Given the description of an element on the screen output the (x, y) to click on. 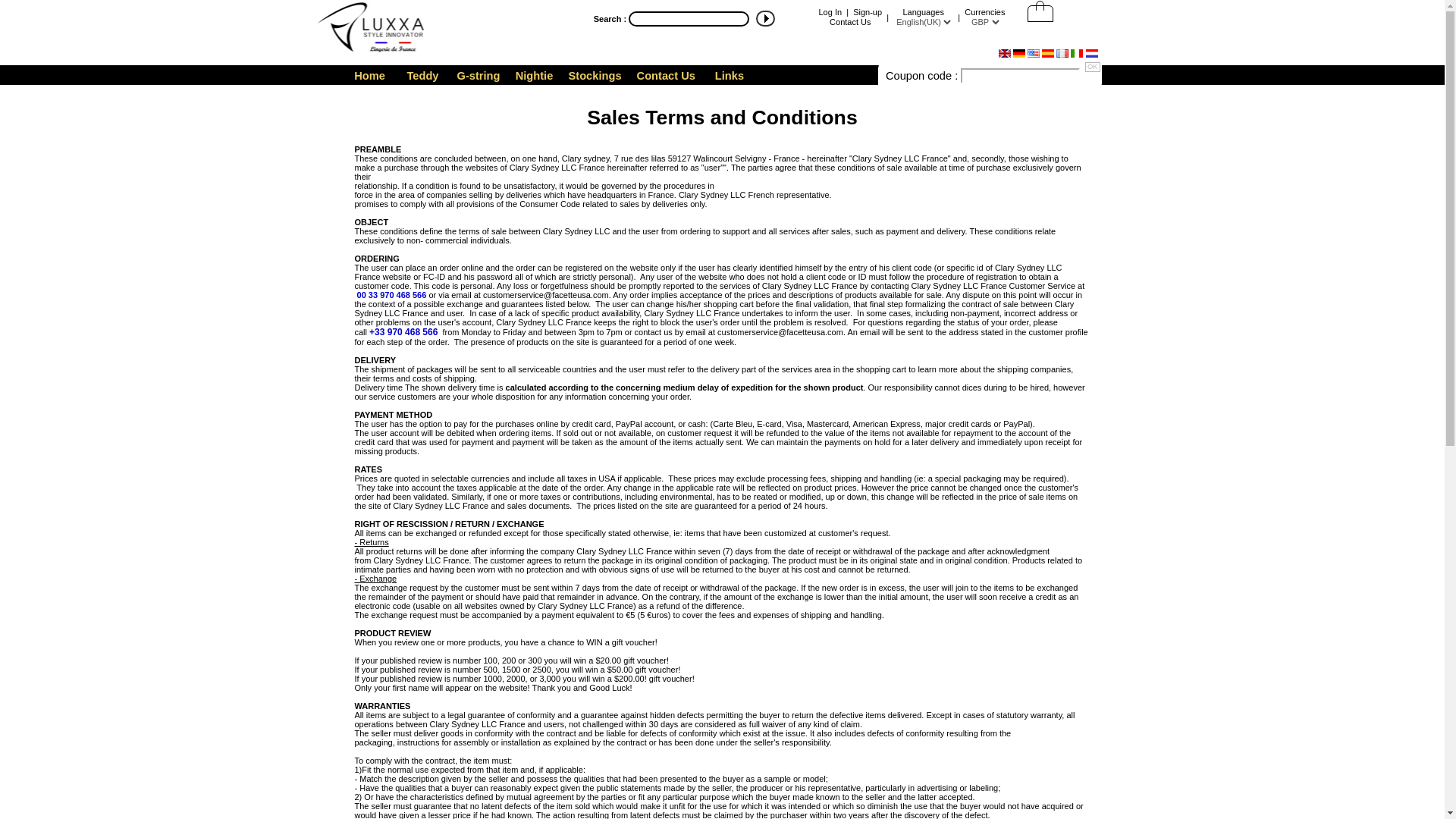
G-string (477, 75)
Nederlands (1091, 53)
Links (729, 75)
Home (370, 75)
Home (370, 75)
Teddy (422, 75)
Nightie (533, 75)
Deutsch (1020, 53)
Nightie (533, 75)
OK (1091, 67)
G-string (477, 75)
Sign-up (867, 11)
Contact Us (665, 75)
Links (729, 75)
Stockings (594, 75)
